Given the description of an element on the screen output the (x, y) to click on. 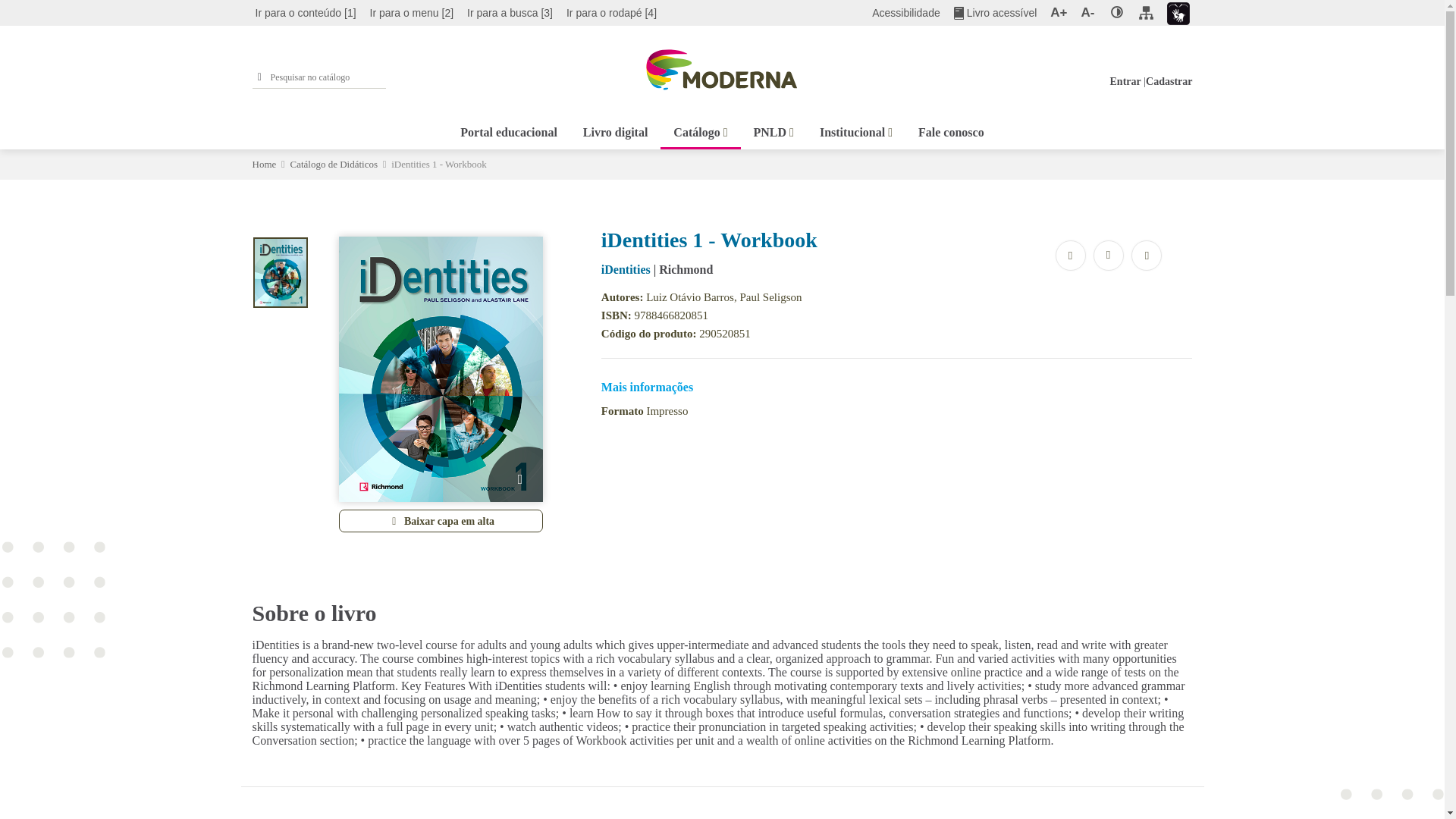
PNLD (773, 131)
Acessibilidade (906, 12)
Ir para o menu (411, 12)
Livro digital (615, 131)
Cadastrar (1168, 81)
Entrar (1125, 81)
Ampliar tela (1058, 12)
A- (1087, 12)
Ir para a busca (510, 12)
Acessibilidade (906, 12)
